Given the description of an element on the screen output the (x, y) to click on. 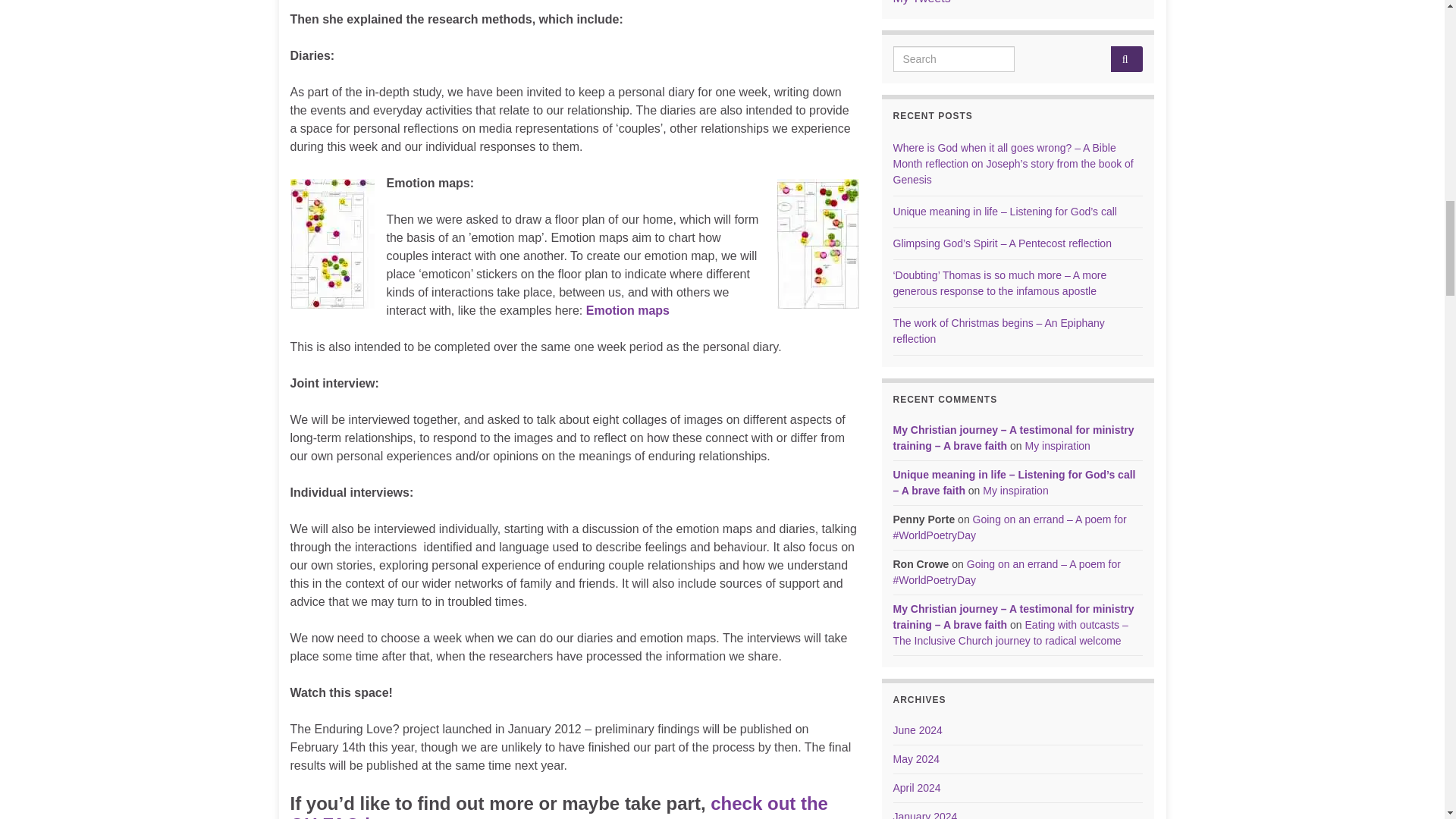
check out the OU FAQ here (558, 806)
Emotion maps (627, 309)
